Given the description of an element on the screen output the (x, y) to click on. 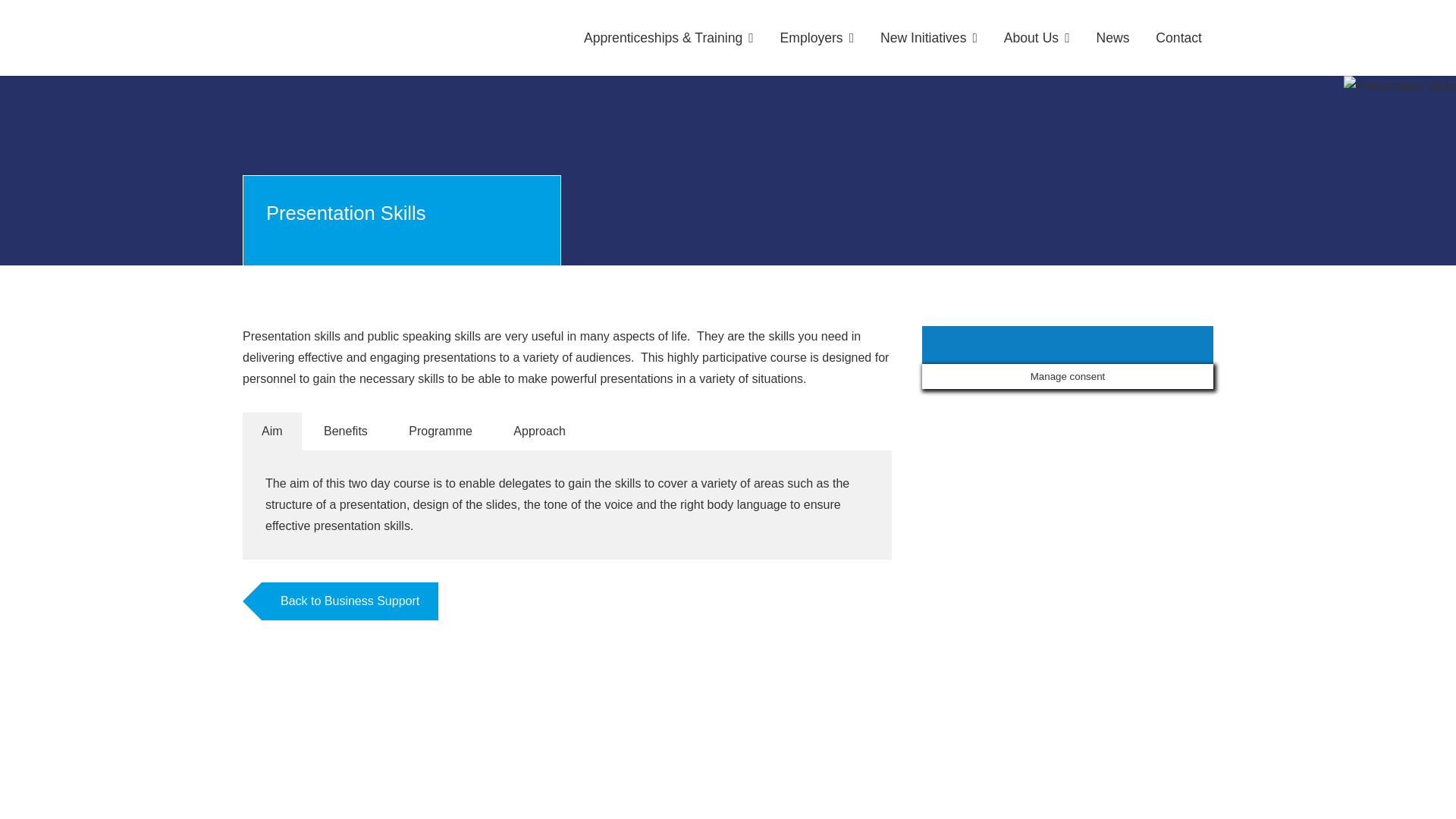
Contact (1178, 38)
Employers (817, 38)
About Us (1036, 38)
Back to Business Support (350, 600)
New Initiatives (928, 38)
In-Comm Training and Business Services (341, 38)
